Given the description of an element on the screen output the (x, y) to click on. 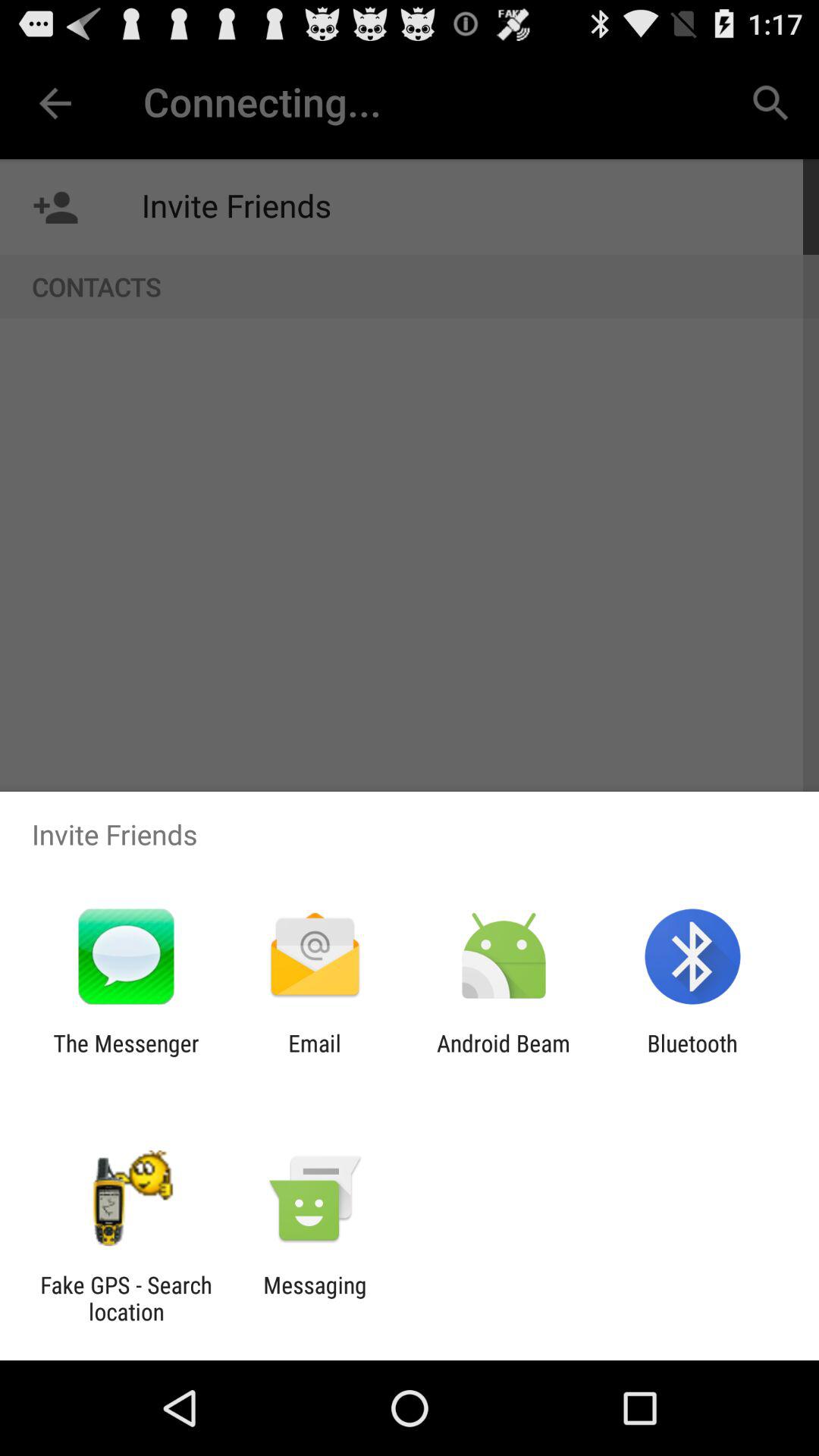
swipe until bluetooth item (692, 1056)
